Given the description of an element on the screen output the (x, y) to click on. 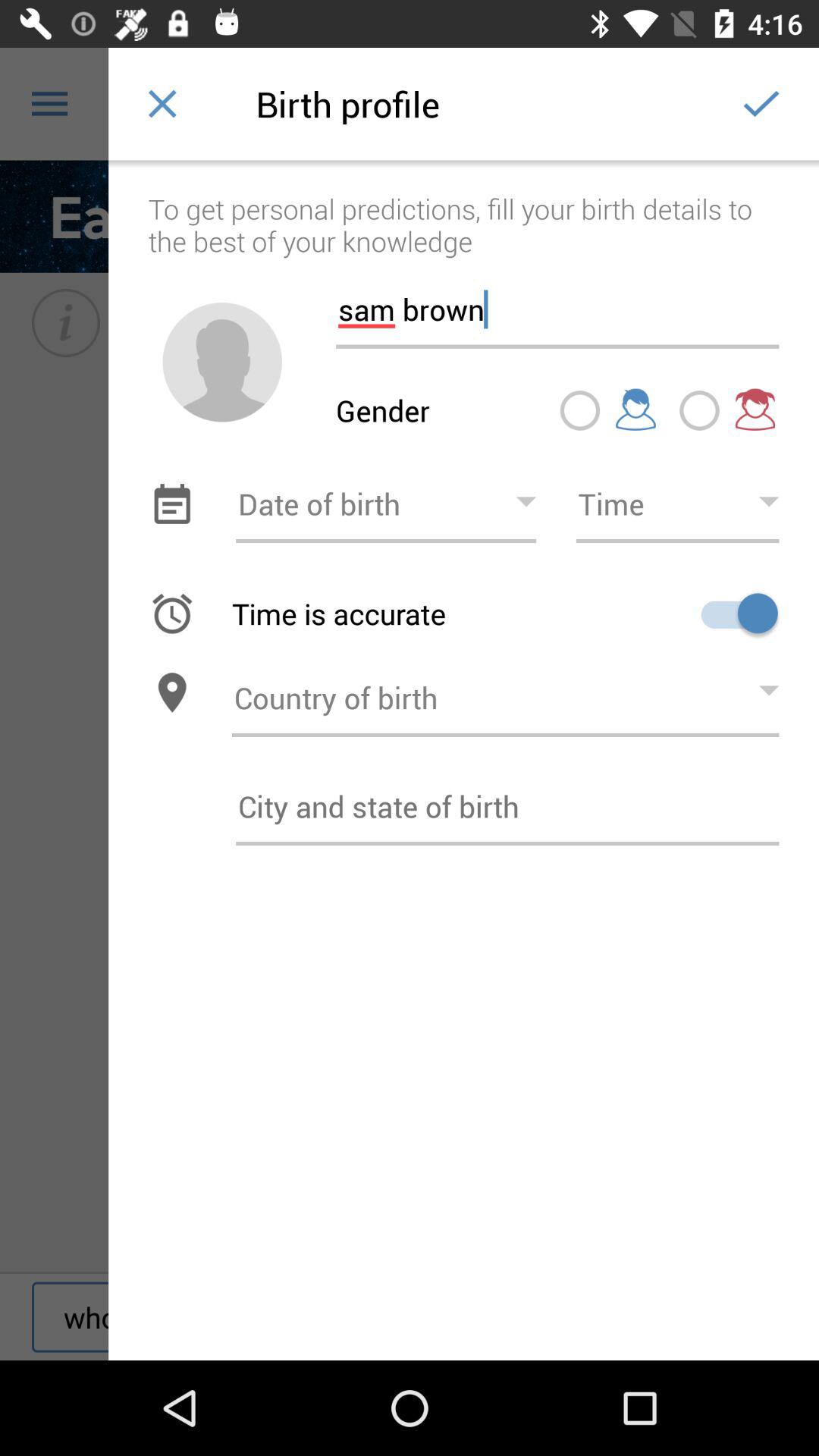
select female as gender (699, 410)
